Given the description of an element on the screen output the (x, y) to click on. 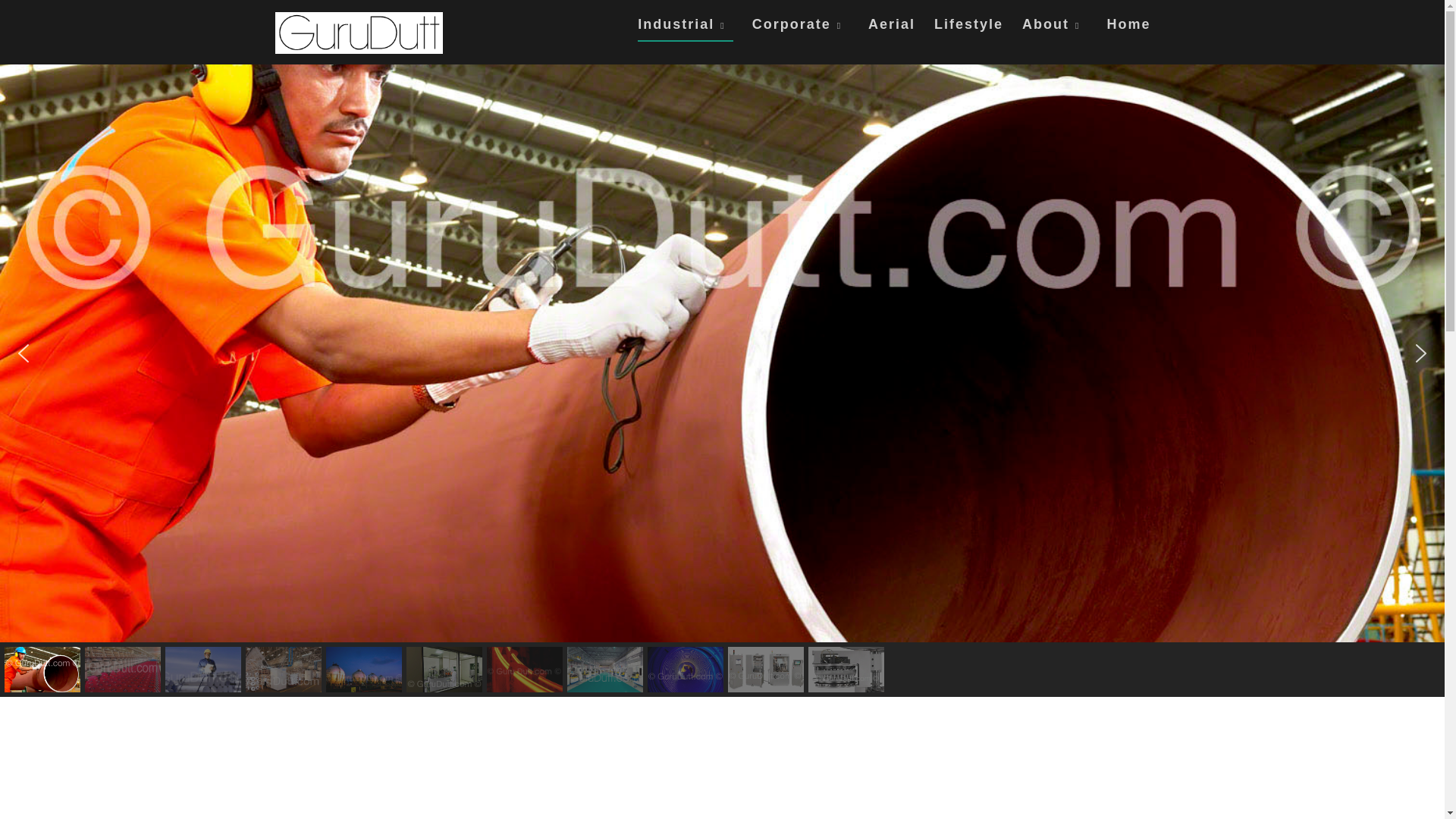
Aerial (891, 27)
Lifestyle (968, 27)
About (1054, 27)
Corporate (800, 27)
Industrial (684, 28)
